Given the description of an element on the screen output the (x, y) to click on. 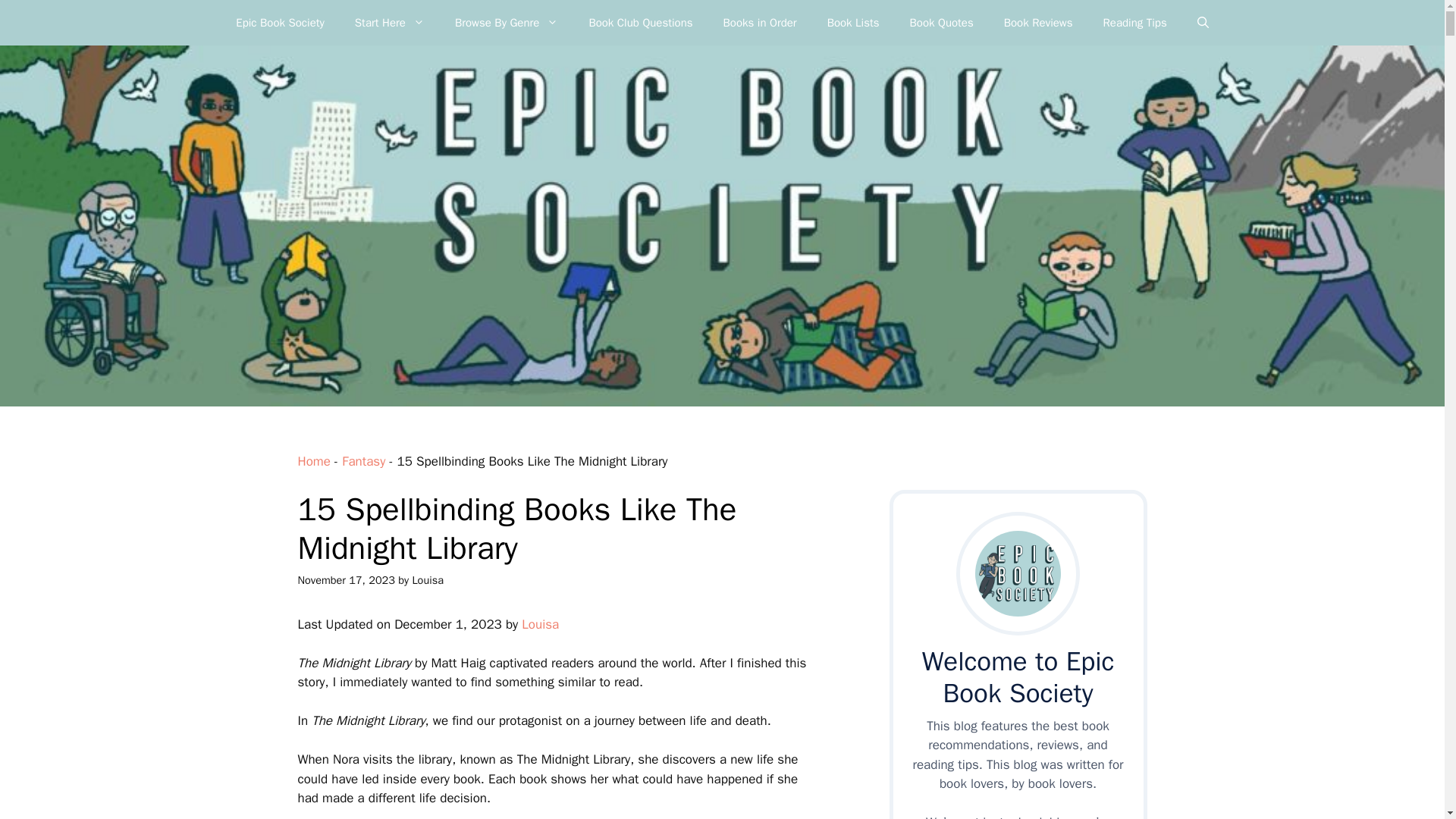
View all posts by Louisa (428, 580)
Start Here (389, 22)
Browse By Genre (506, 22)
Books in Order (759, 22)
Book Reviews (1037, 22)
Book Club Questions (640, 22)
Epic Book Society (280, 22)
Book Quotes (941, 22)
Book Lists (853, 22)
Reading Tips (1134, 22)
